Given the description of an element on the screen output the (x, y) to click on. 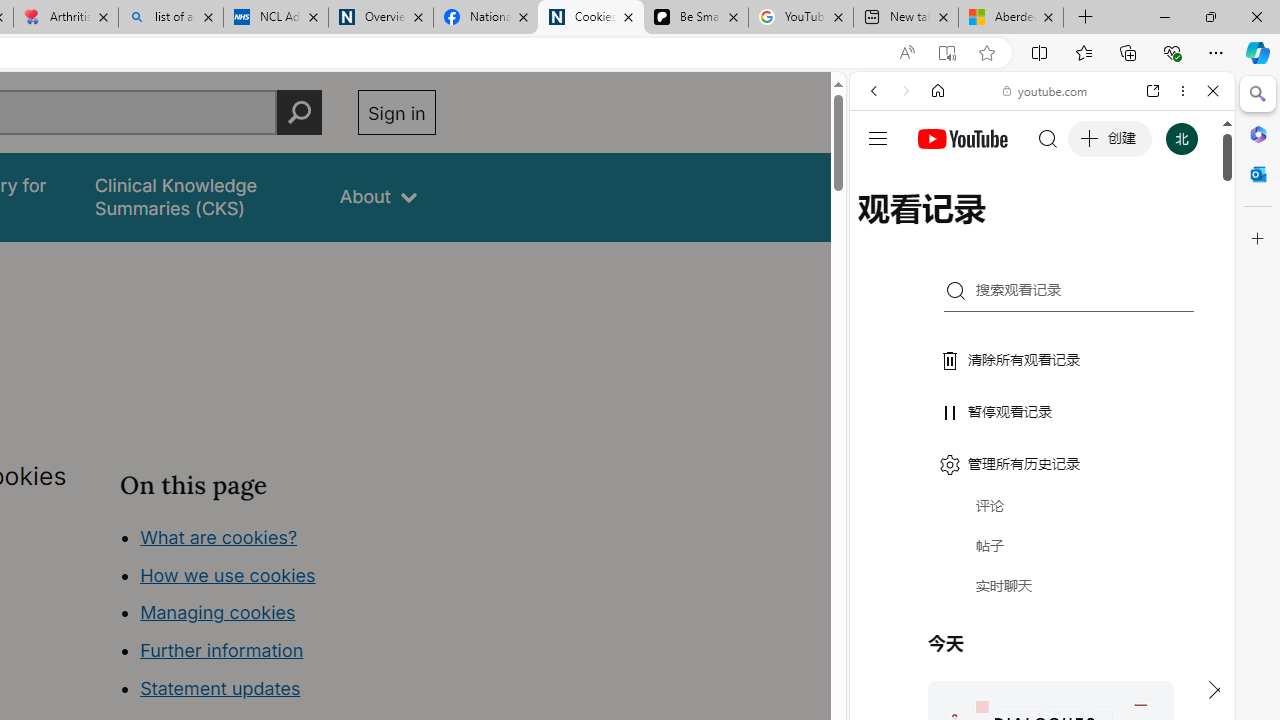
Statement updates (219, 688)
About (378, 196)
Open link in new tab (1153, 91)
Global web icon (888, 288)
Search videos from youtube.com (1005, 657)
Class: b_serphb (1190, 229)
#you (1042, 445)
Music (1042, 543)
WEB   (882, 228)
